Given the description of an element on the screen output the (x, y) to click on. 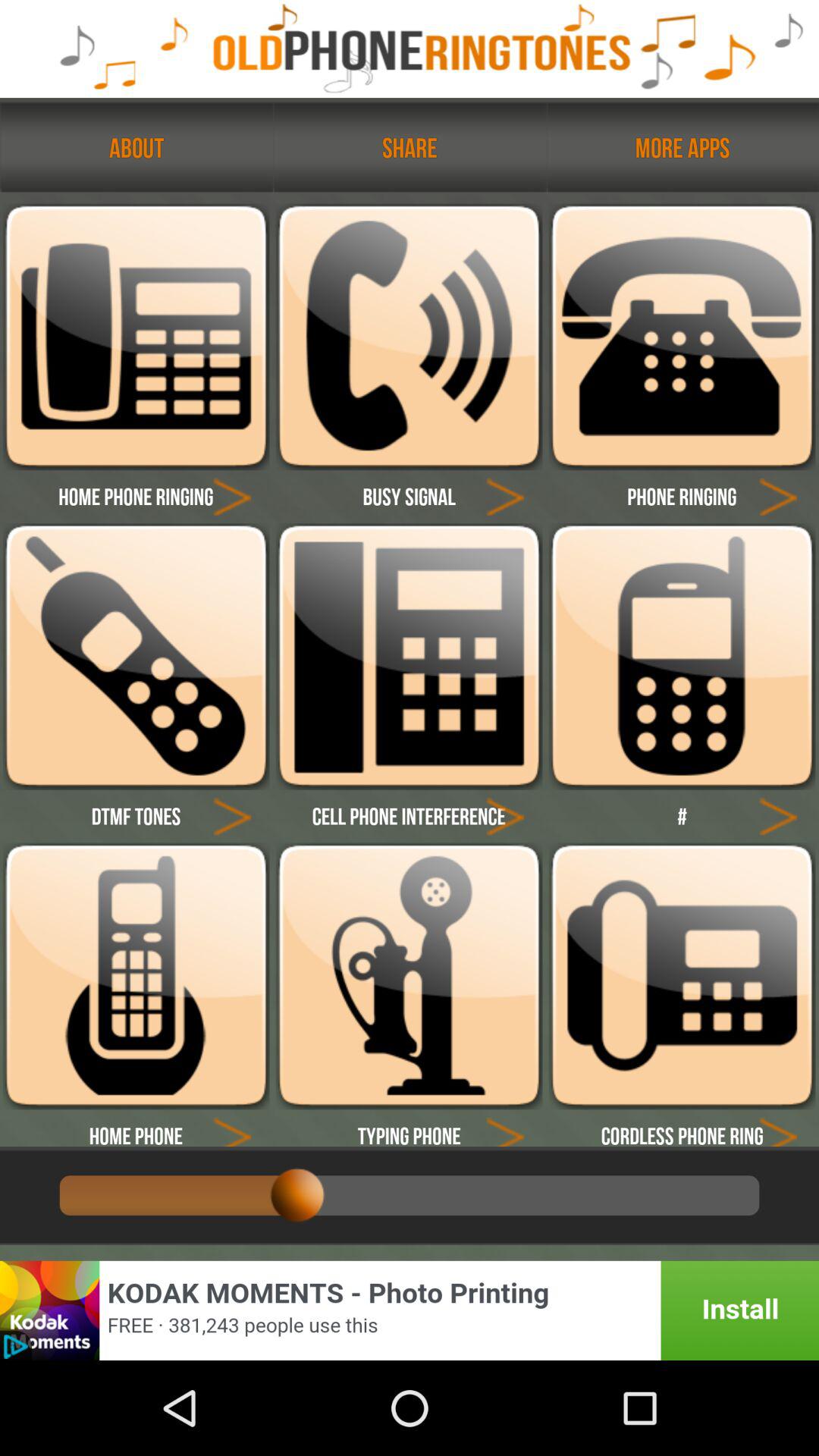
select phone type (408, 336)
